Given the description of an element on the screen output the (x, y) to click on. 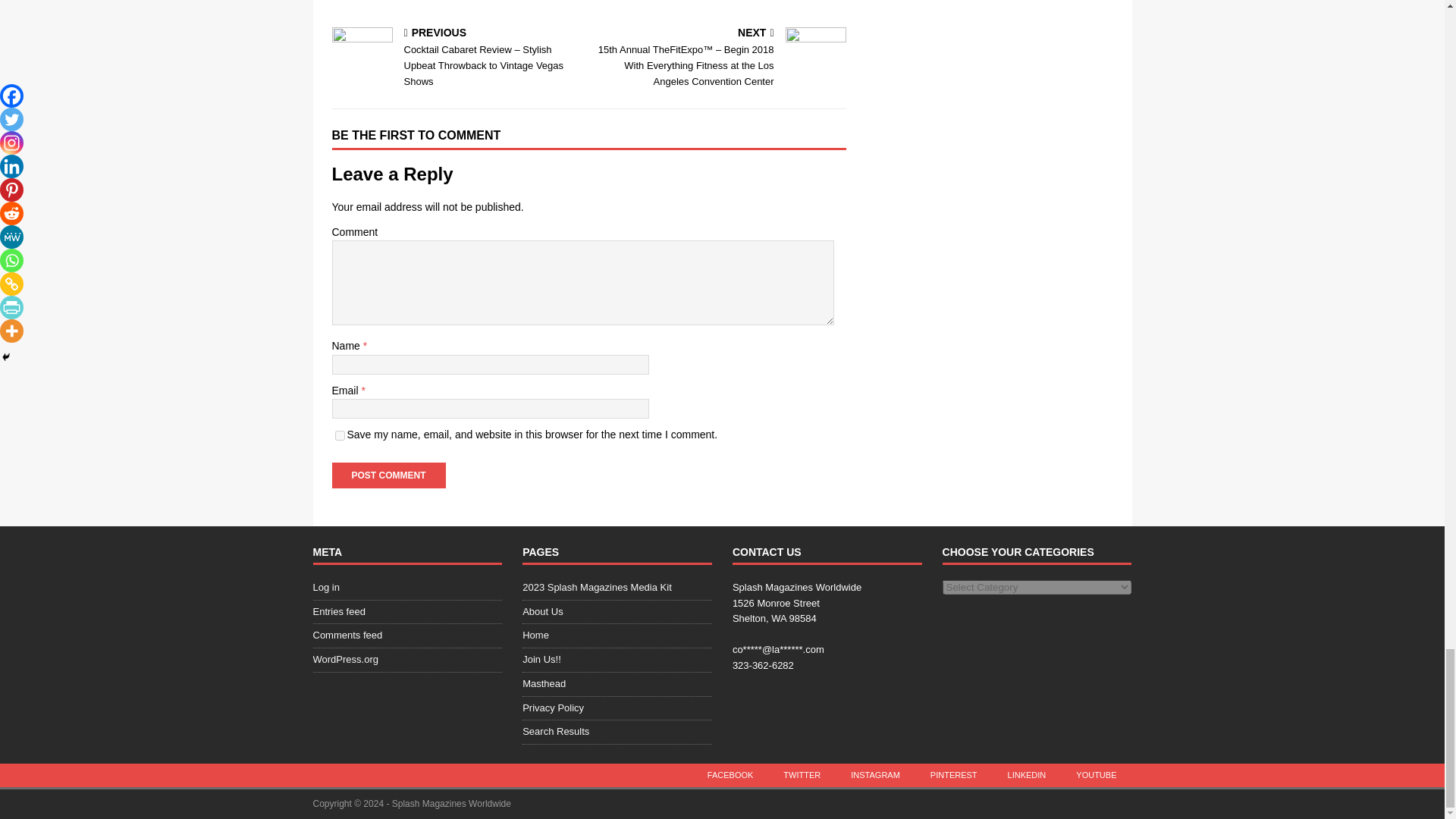
Post Comment (388, 475)
yes (339, 435)
